Given the description of an element on the screen output the (x, y) to click on. 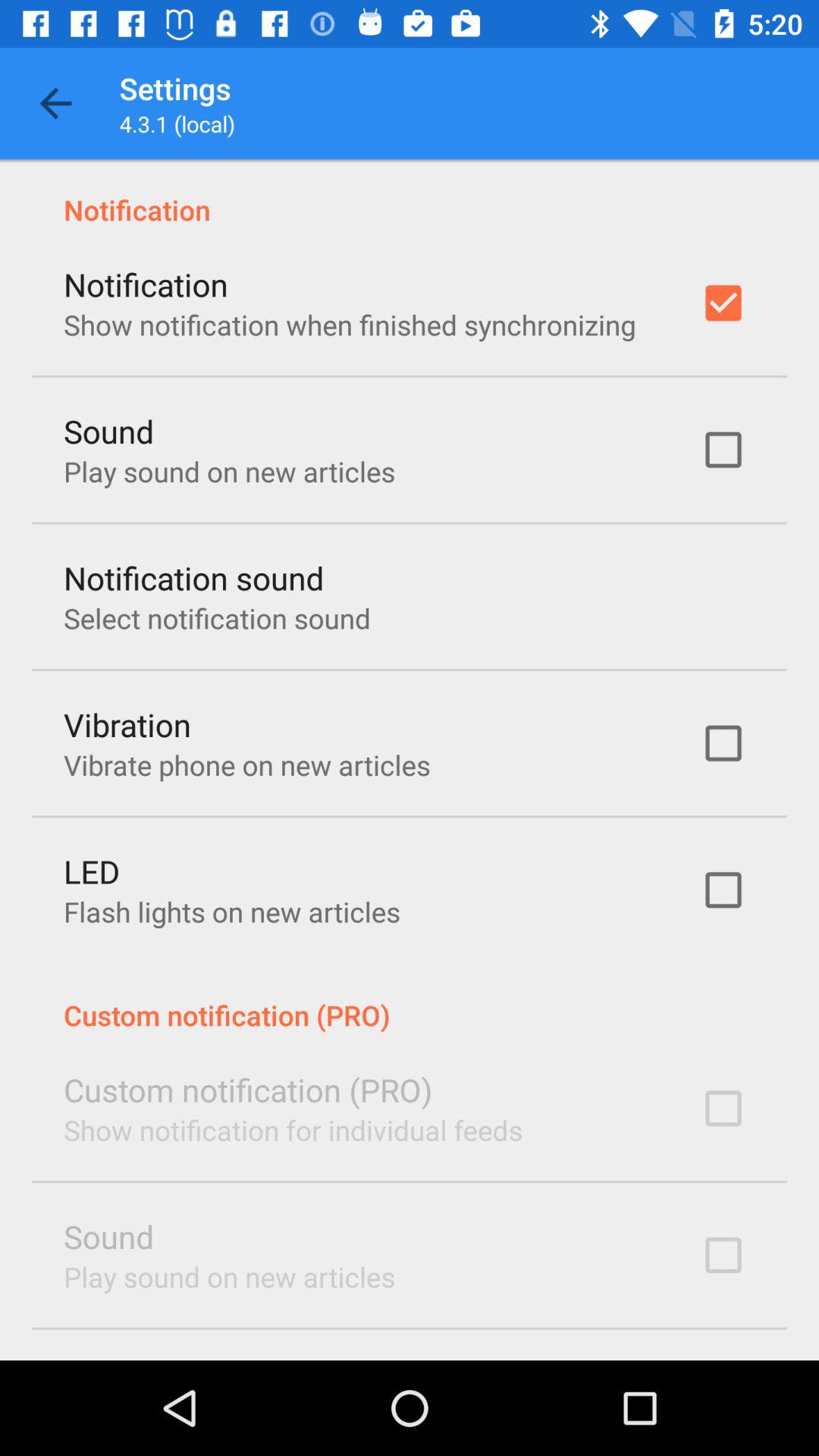
select icon above notification icon (55, 103)
